Given the description of an element on the screen output the (x, y) to click on. 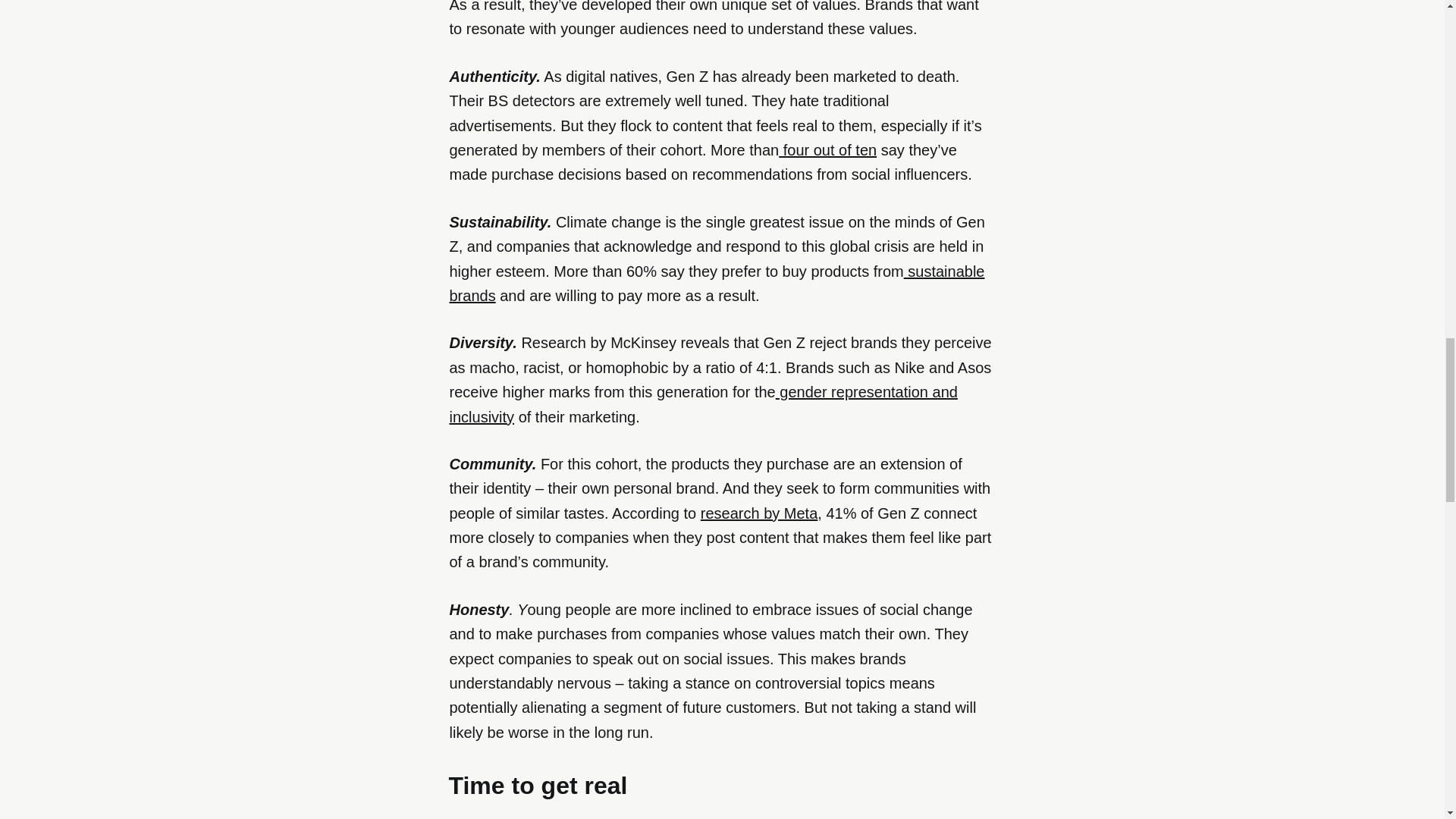
research by Meta (759, 513)
four out of ten (827, 149)
sustainable brands (716, 282)
gender representation and inclusivity (702, 404)
